Given the description of an element on the screen output the (x, y) to click on. 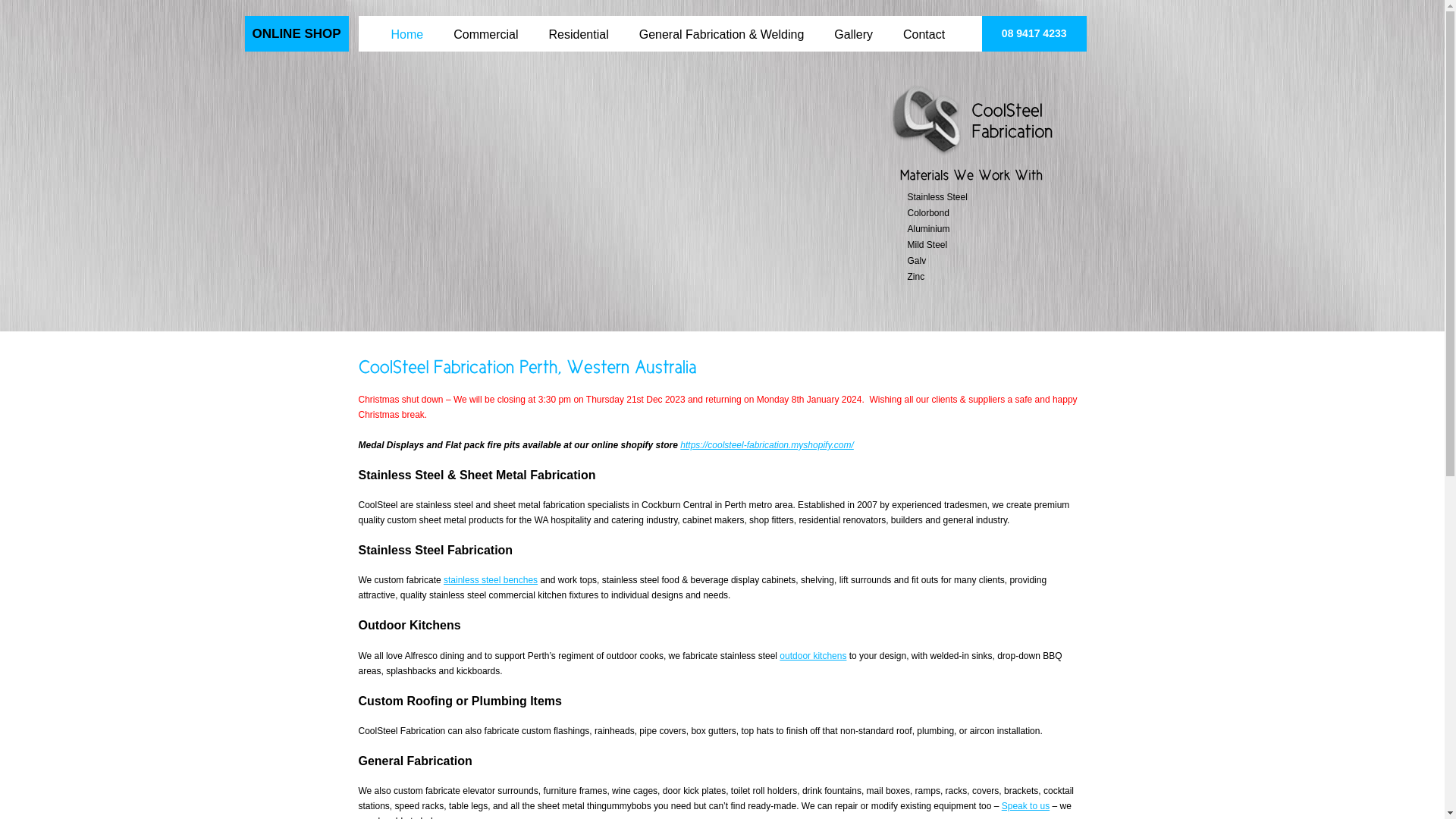
Home Element type: text (407, 24)
Contact Element type: text (923, 24)
Residential Element type: text (578, 24)
https://coolsteel-fabrication.myshopify.com/ Element type: text (766, 444)
Gallery Element type: text (853, 24)
Speak to us Element type: text (1025, 805)
ONLINE SHOP Element type: text (296, 33)
outdoor kitchens Element type: text (812, 655)
08 9417 4233 Element type: text (1034, 33)
stainless steel benches Element type: text (490, 579)
General Fabrication & Welding Element type: text (721, 24)
Commercial Element type: text (485, 24)
